Given the description of an element on the screen output the (x, y) to click on. 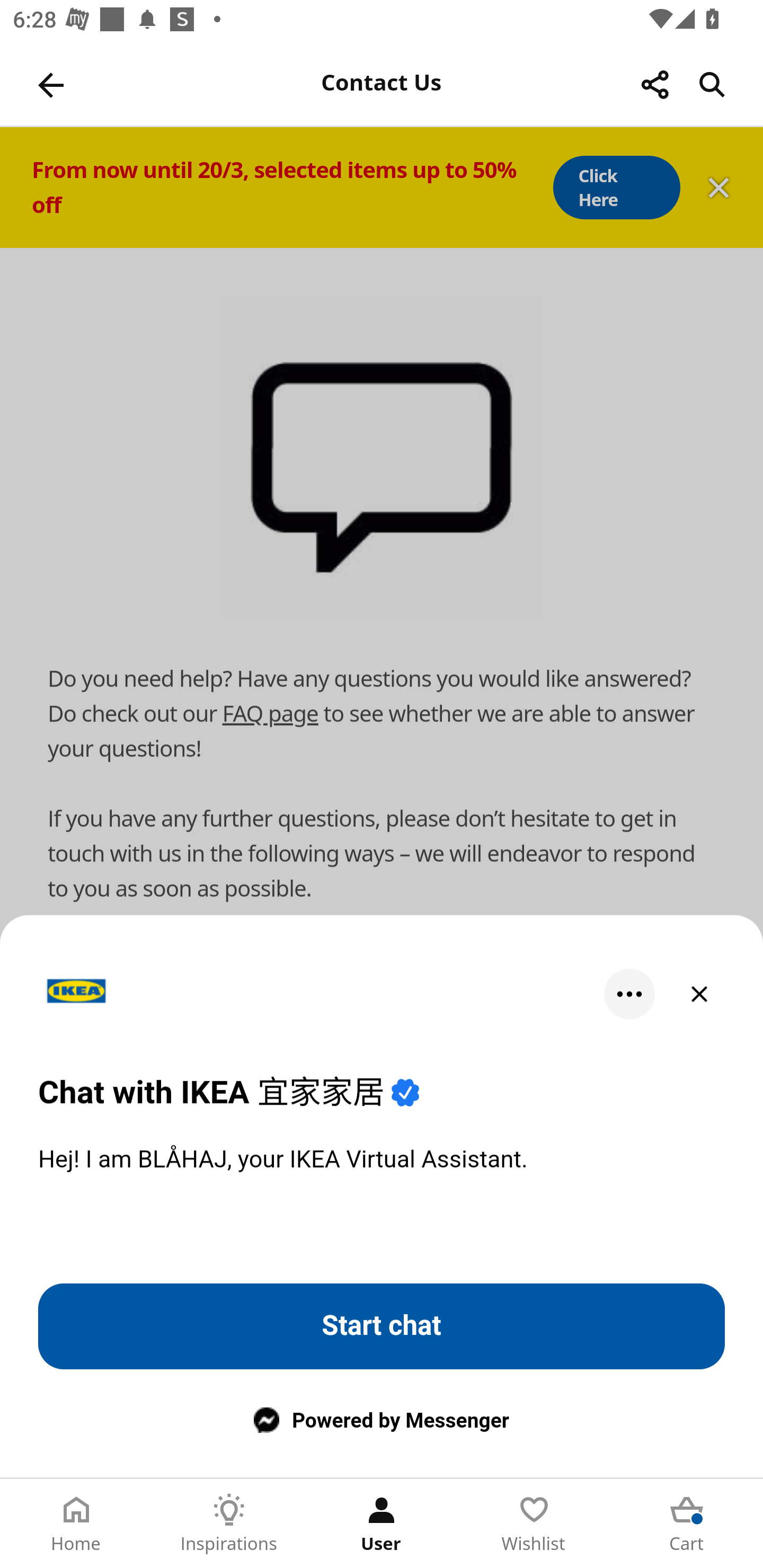
More (629, 993)
close (699, 993)
Start chat (381, 1326)
Home
Tab 1 of 5 (76, 1522)
Inspirations
Tab 2 of 5 (228, 1522)
User
Tab 3 of 5 (381, 1522)
Wishlist
Tab 4 of 5 (533, 1522)
Cart
Tab 5 of 5 (686, 1522)
